Given the description of an element on the screen output the (x, y) to click on. 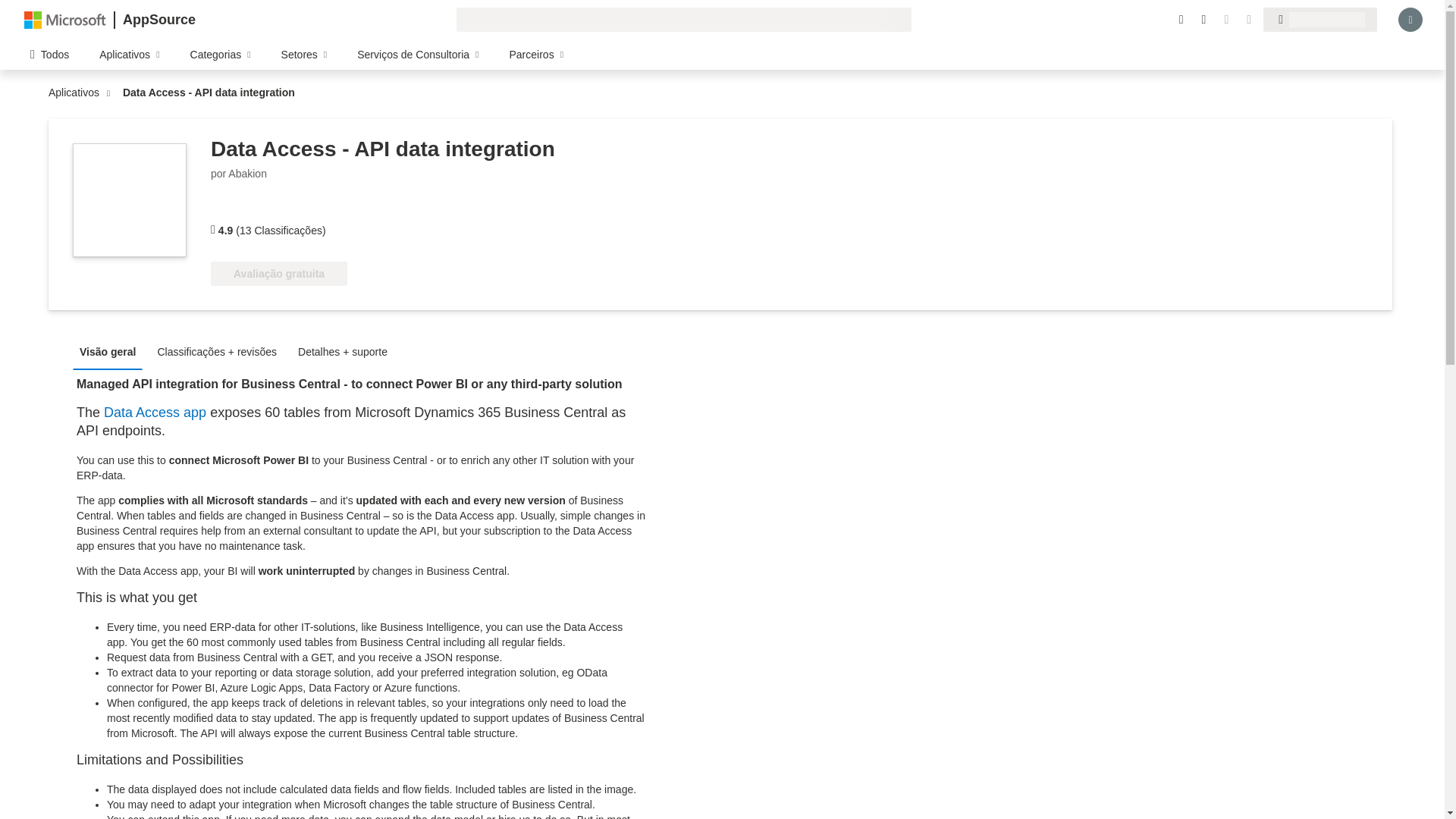
Microsoft (65, 18)
Data Access app (154, 412)
AppSource (158, 19)
Aplicativos (77, 92)
